Given the description of an element on the screen output the (x, y) to click on. 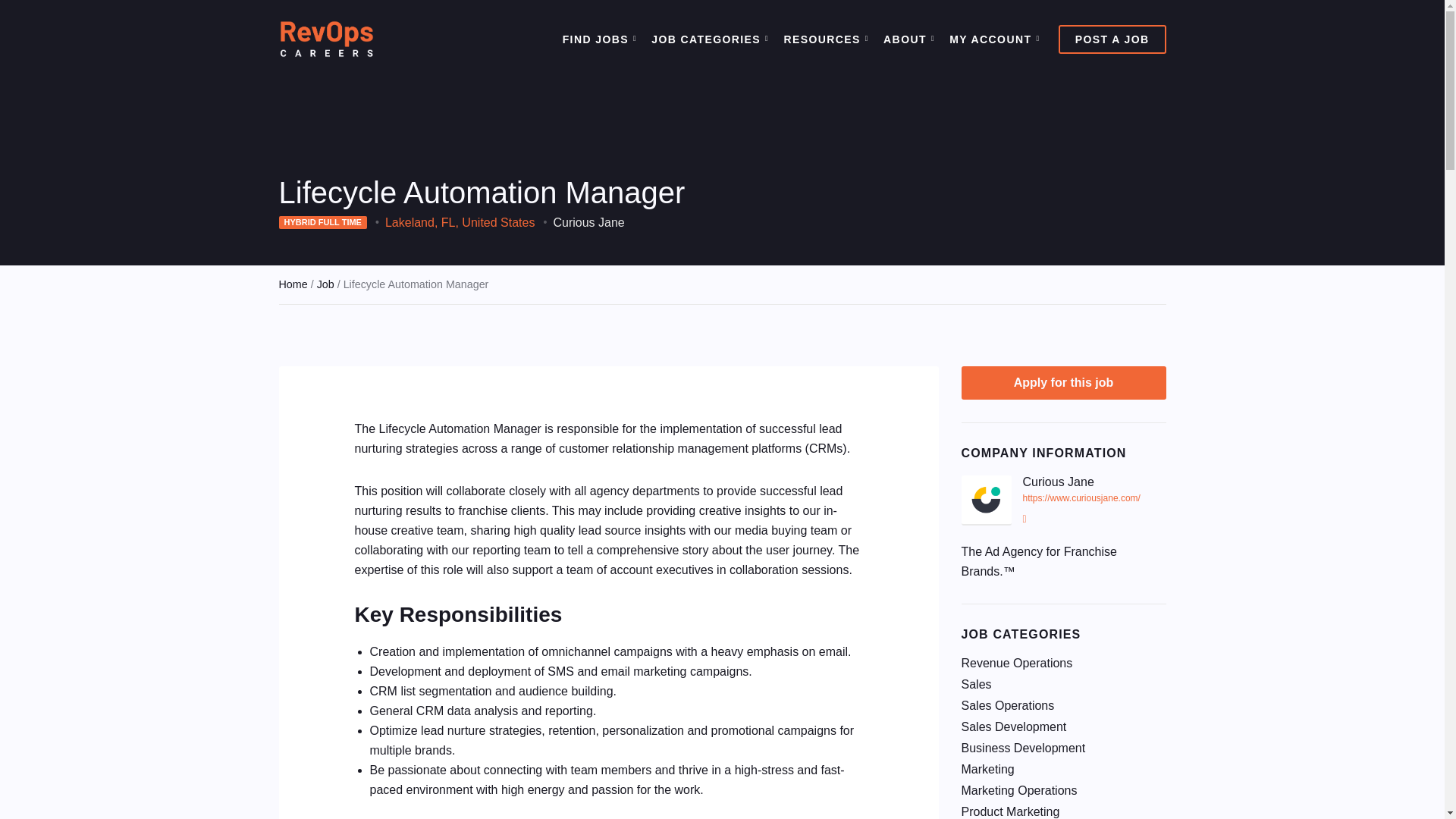
FIND JOBS (596, 39)
JOB CATEGORIES (707, 39)
MY ACCOUNT (992, 39)
POST A JOB (1112, 39)
Job (325, 284)
ABOUT (906, 39)
Home (293, 284)
Lakeland, FL, United States (459, 221)
RESOURCES (823, 39)
